Given the description of an element on the screen output the (x, y) to click on. 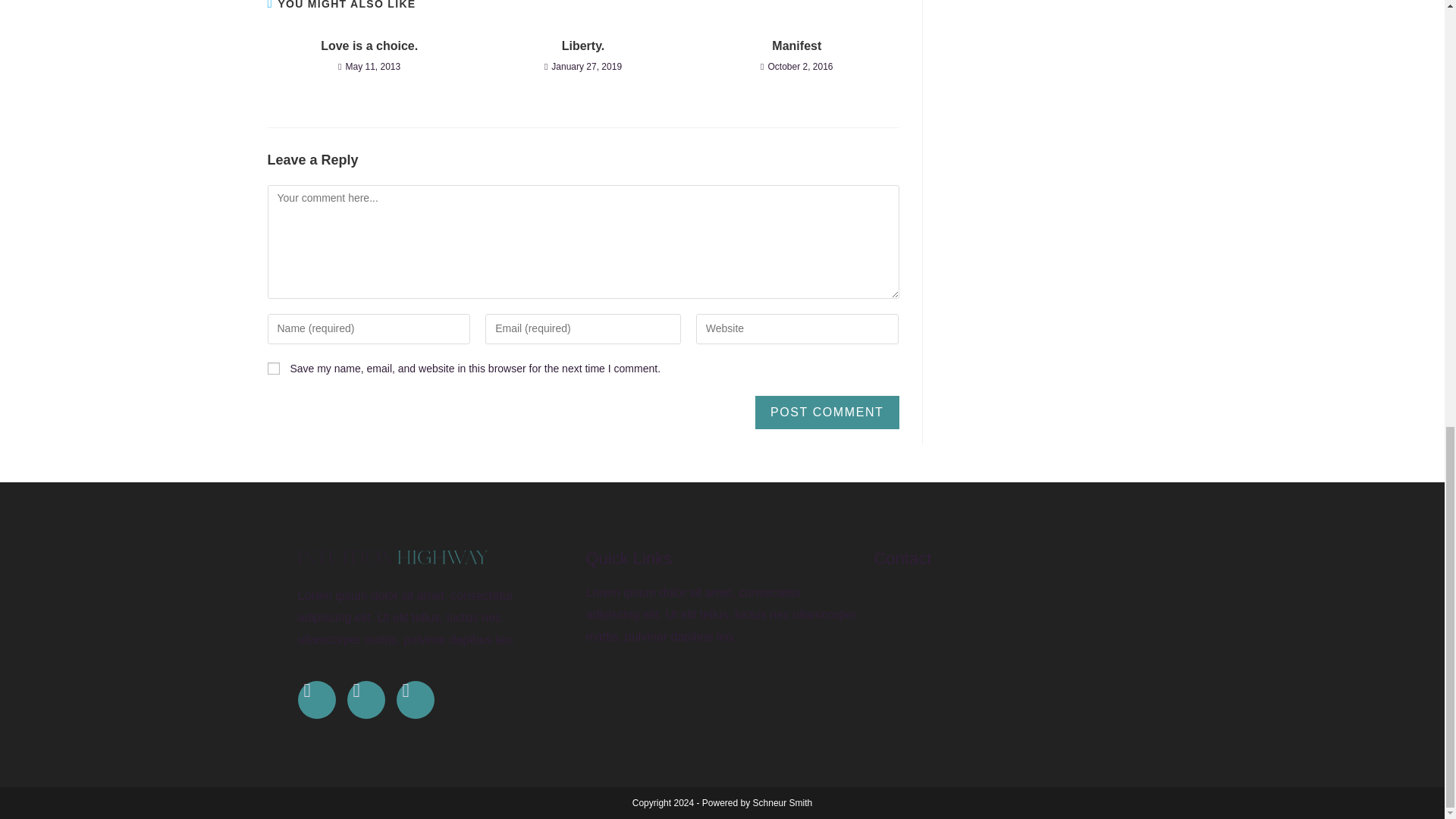
Post Comment (827, 412)
yes (272, 368)
Liberty. (582, 45)
Manifest (796, 45)
Post Comment (827, 412)
Love is a choice. (368, 45)
